Given the description of an element on the screen output the (x, y) to click on. 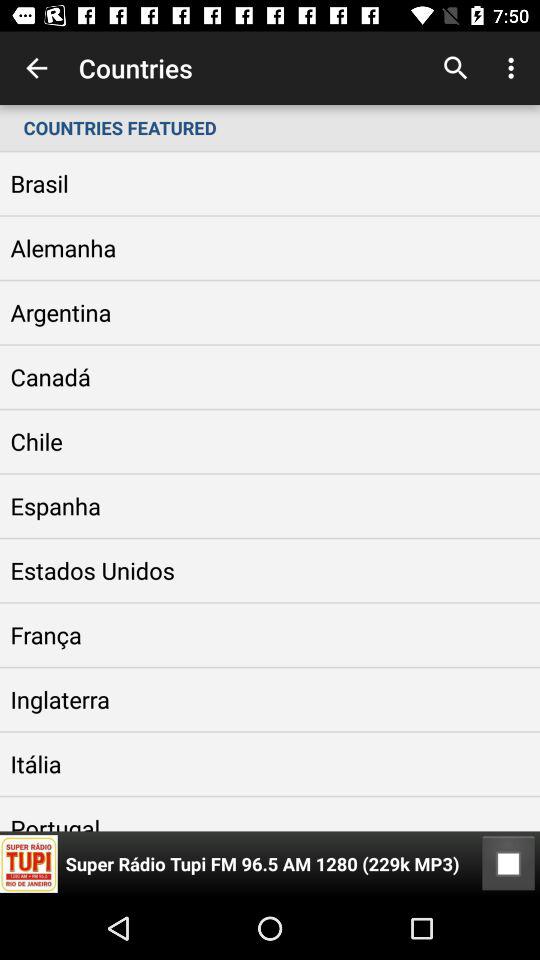
choose icon above the countries featured item (513, 67)
